Given the description of an element on the screen output the (x, y) to click on. 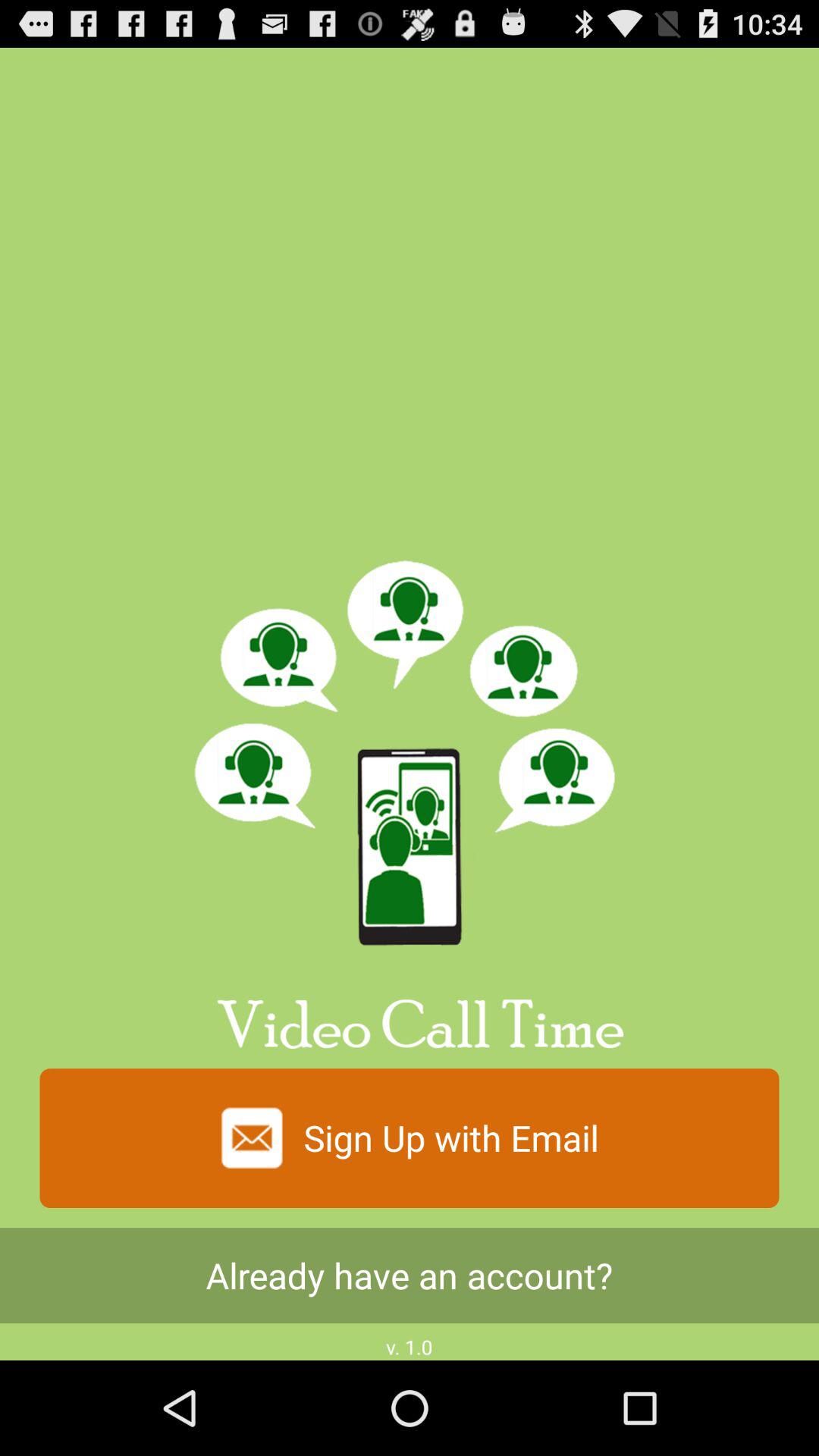
click already have an button (409, 1275)
